Given the description of an element on the screen output the (x, y) to click on. 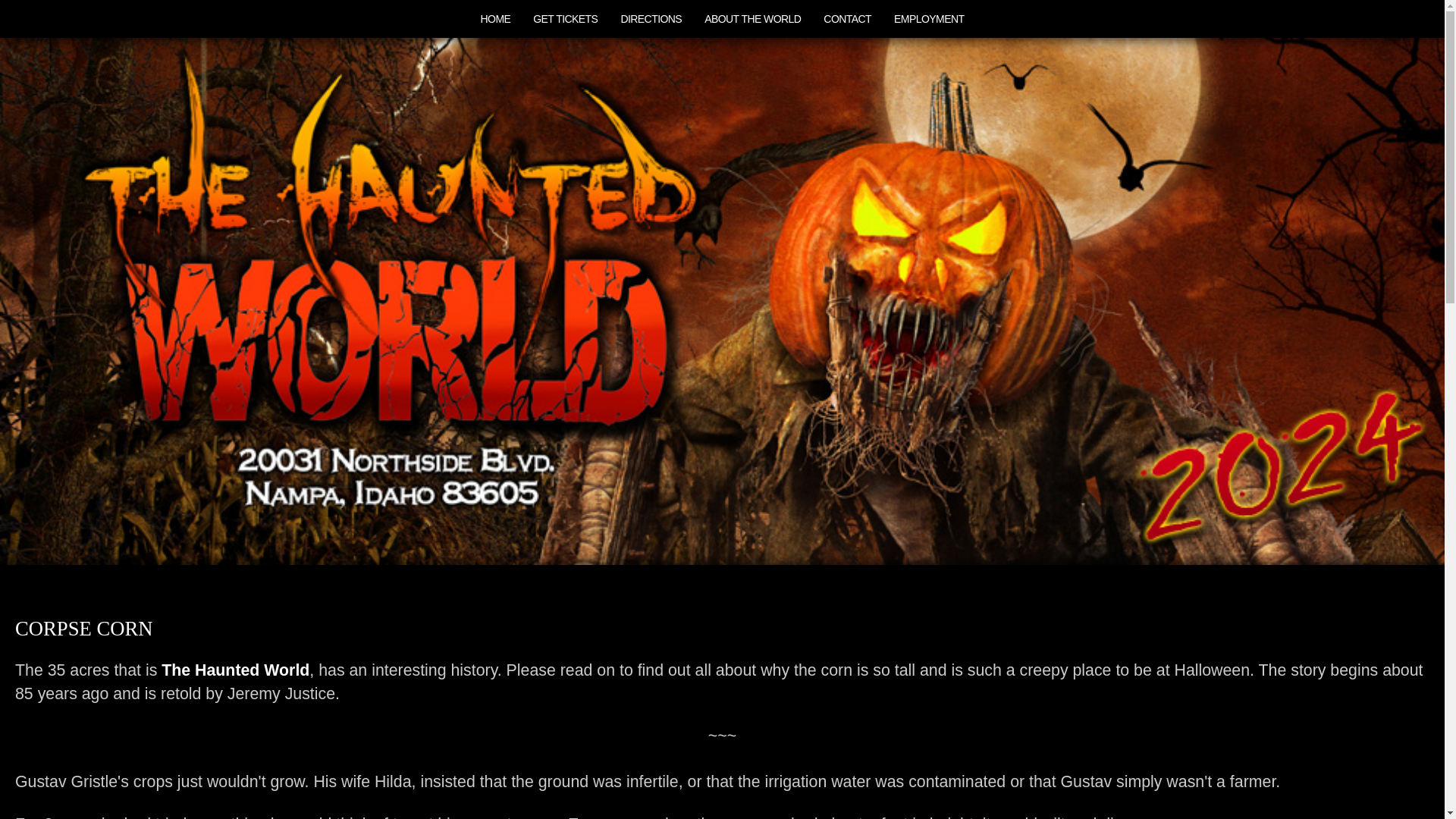
GET TICKETS (564, 18)
CONTACT (847, 18)
EMPLOYMENT (928, 18)
DIRECTIONS (650, 18)
HOME (494, 18)
ABOUT THE WORLD (752, 18)
